Given the description of an element on the screen output the (x, y) to click on. 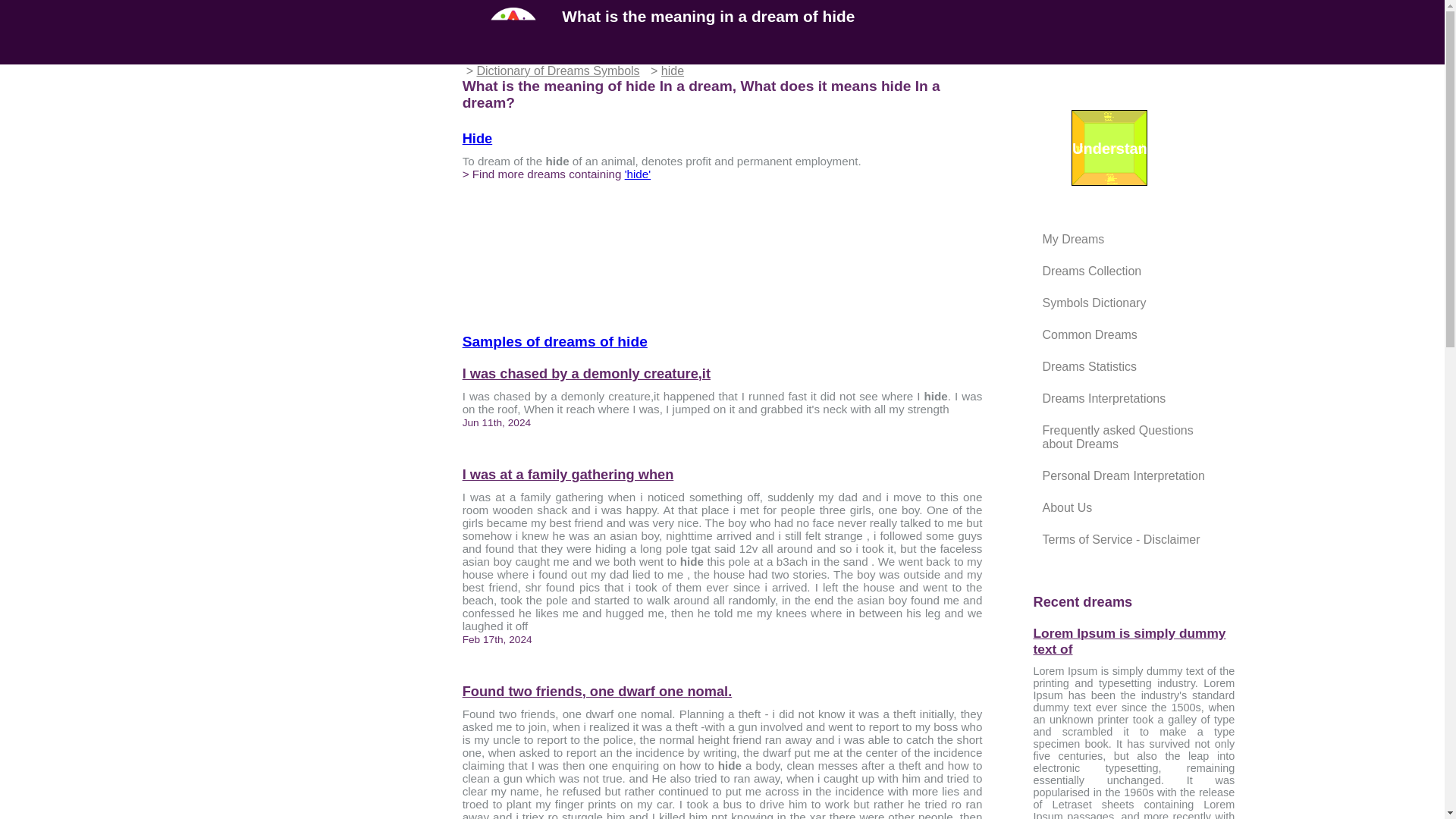
I was at a family gathering when (722, 474)
Find more dreams containing hide (637, 173)
Dreams Collection (1091, 270)
hide (478, 138)
Common Dreams (1089, 334)
Search symbols intrepretation containing (555, 341)
Dreams Statistics (1088, 366)
Samples of dreams of hide (555, 341)
Dreams Interpretations (1104, 398)
